Given the description of an element on the screen output the (x, y) to click on. 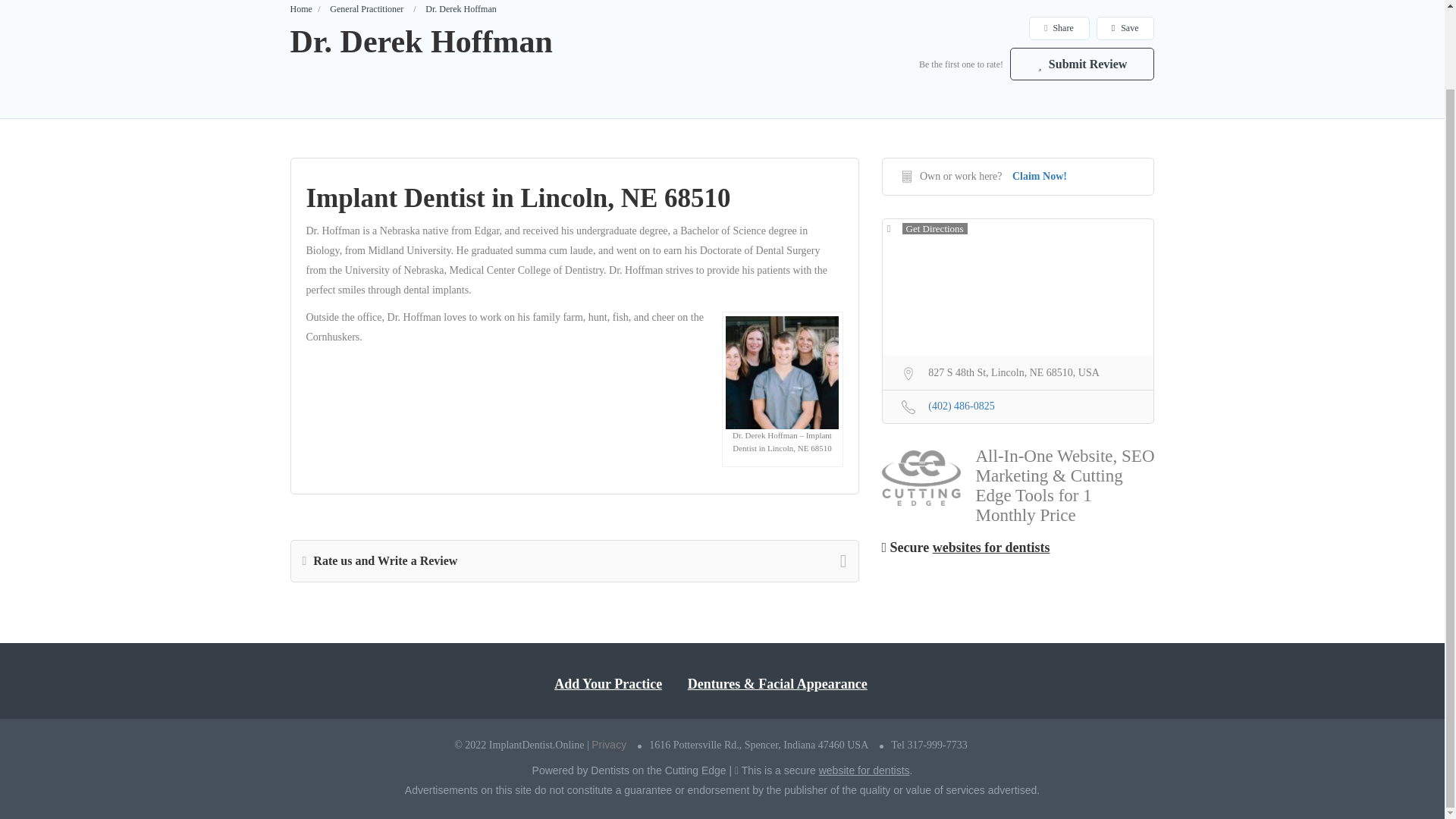
General Practitioner (366, 9)
CHOOSE PLAN (721, 545)
Claim Now! (1039, 176)
Submit Review (1082, 63)
Claim your business now! (584, 481)
Home (300, 9)
Get Directions (927, 229)
Submit (413, 412)
Share (1058, 28)
Save (1125, 28)
